Given the description of an element on the screen output the (x, y) to click on. 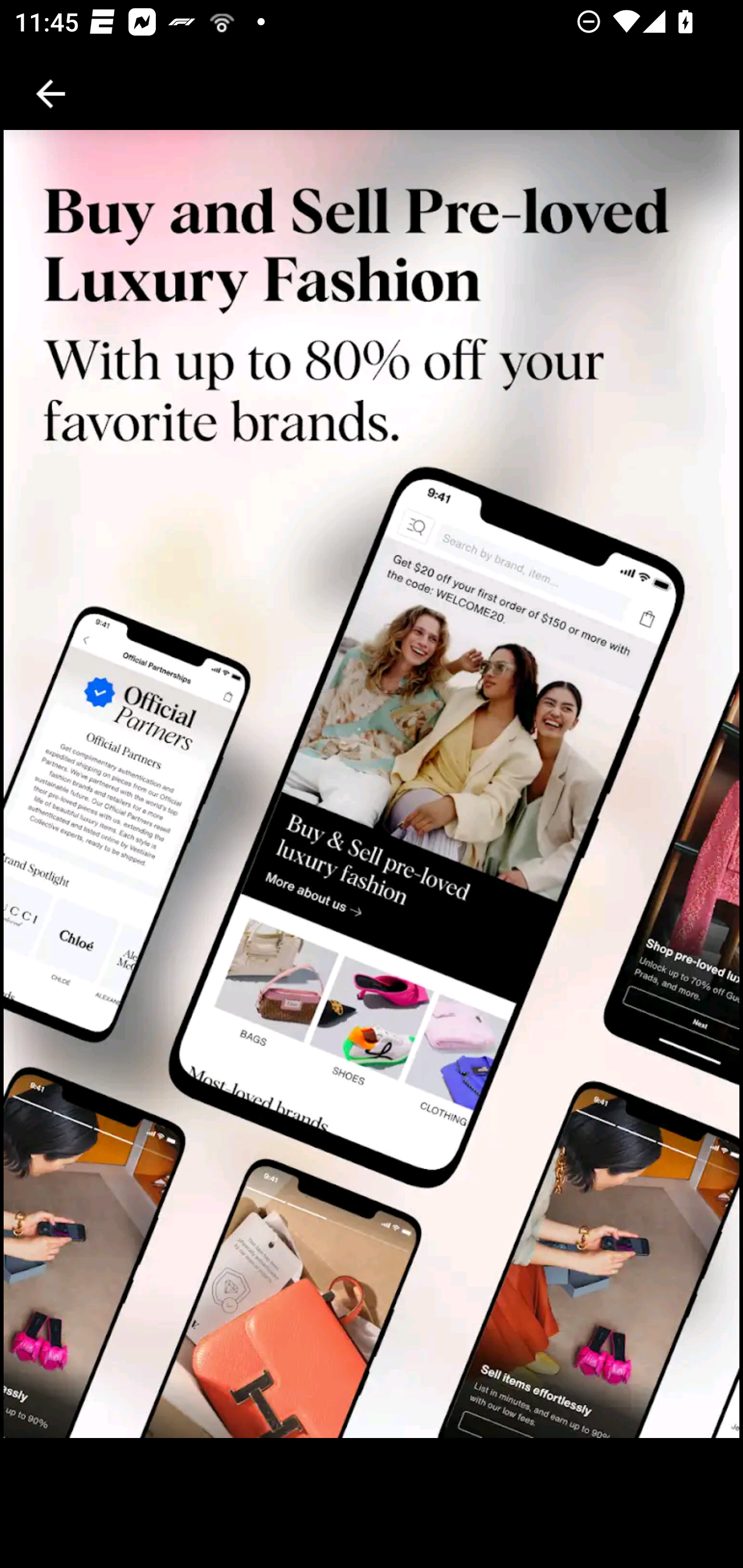
Back (50, 93)
